Given the description of an element on the screen output the (x, y) to click on. 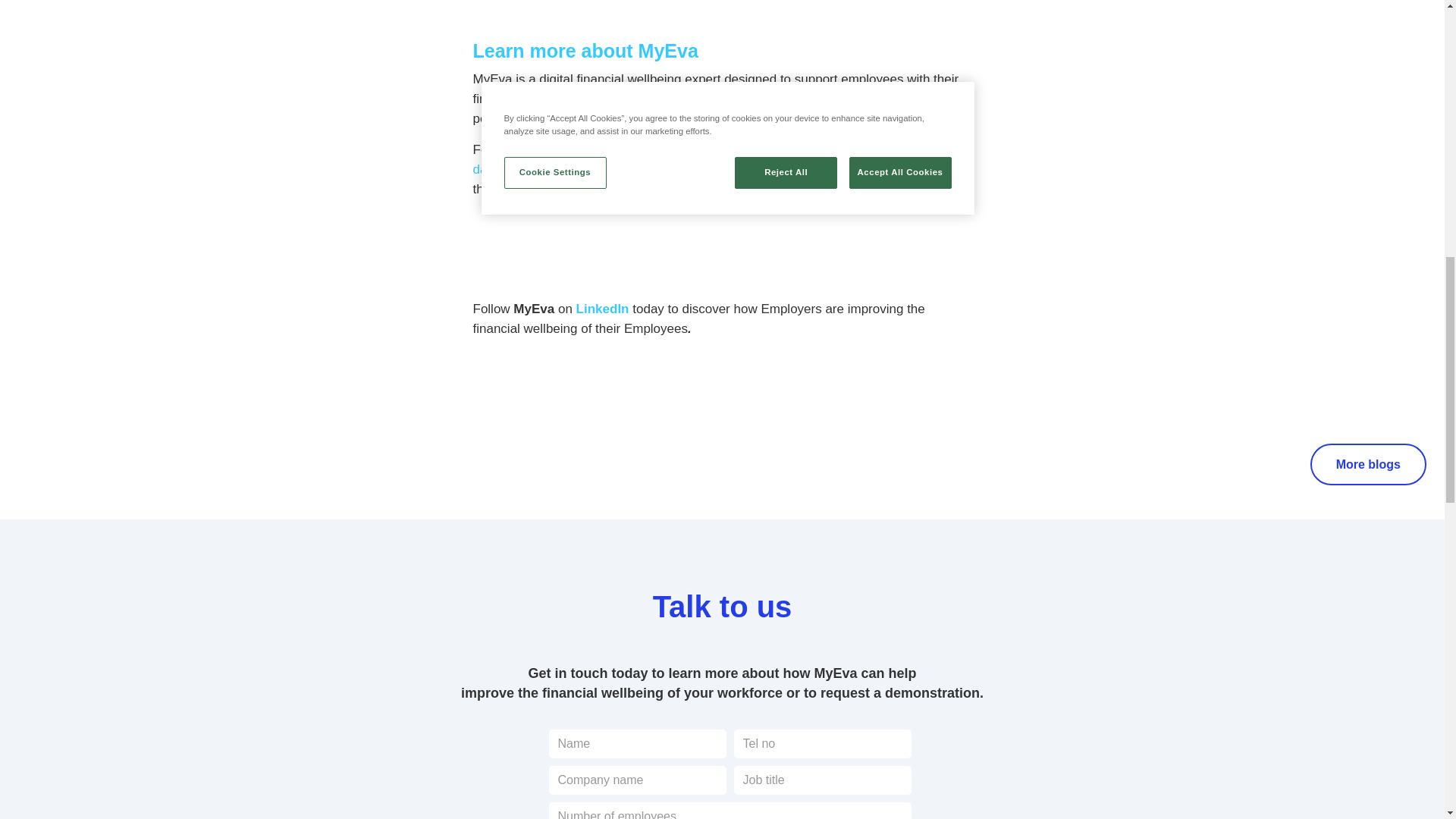
www.myeva.com, (715, 149)
LinkedIn (602, 309)
More blogs (1368, 464)
